Given the description of an element on the screen output the (x, y) to click on. 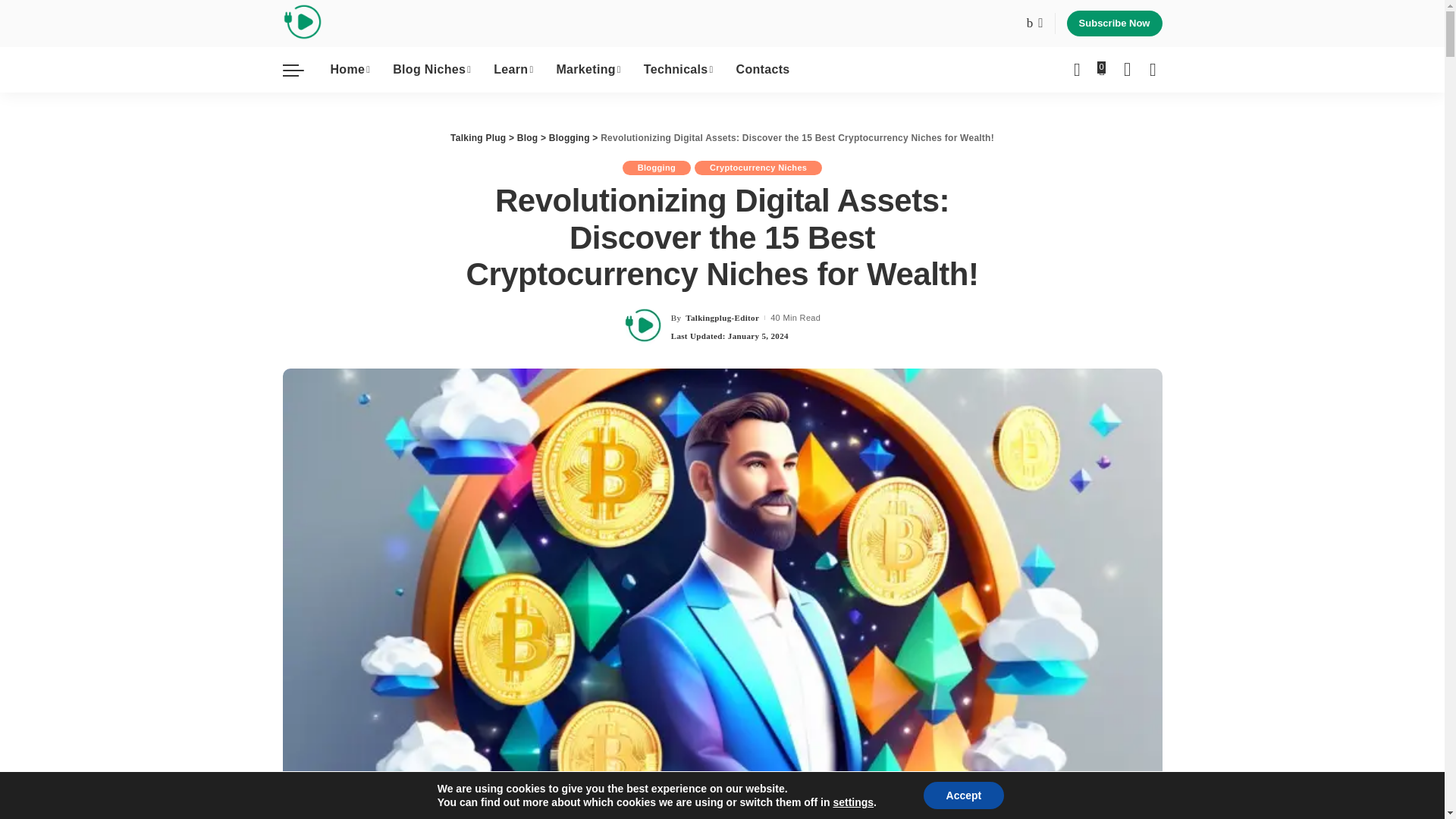
Go to Talking Plug. (477, 137)
Go to Blog. (527, 137)
Go to the Blogging Category archives. (568, 137)
Talking Plug (301, 23)
